Given the description of an element on the screen output the (x, y) to click on. 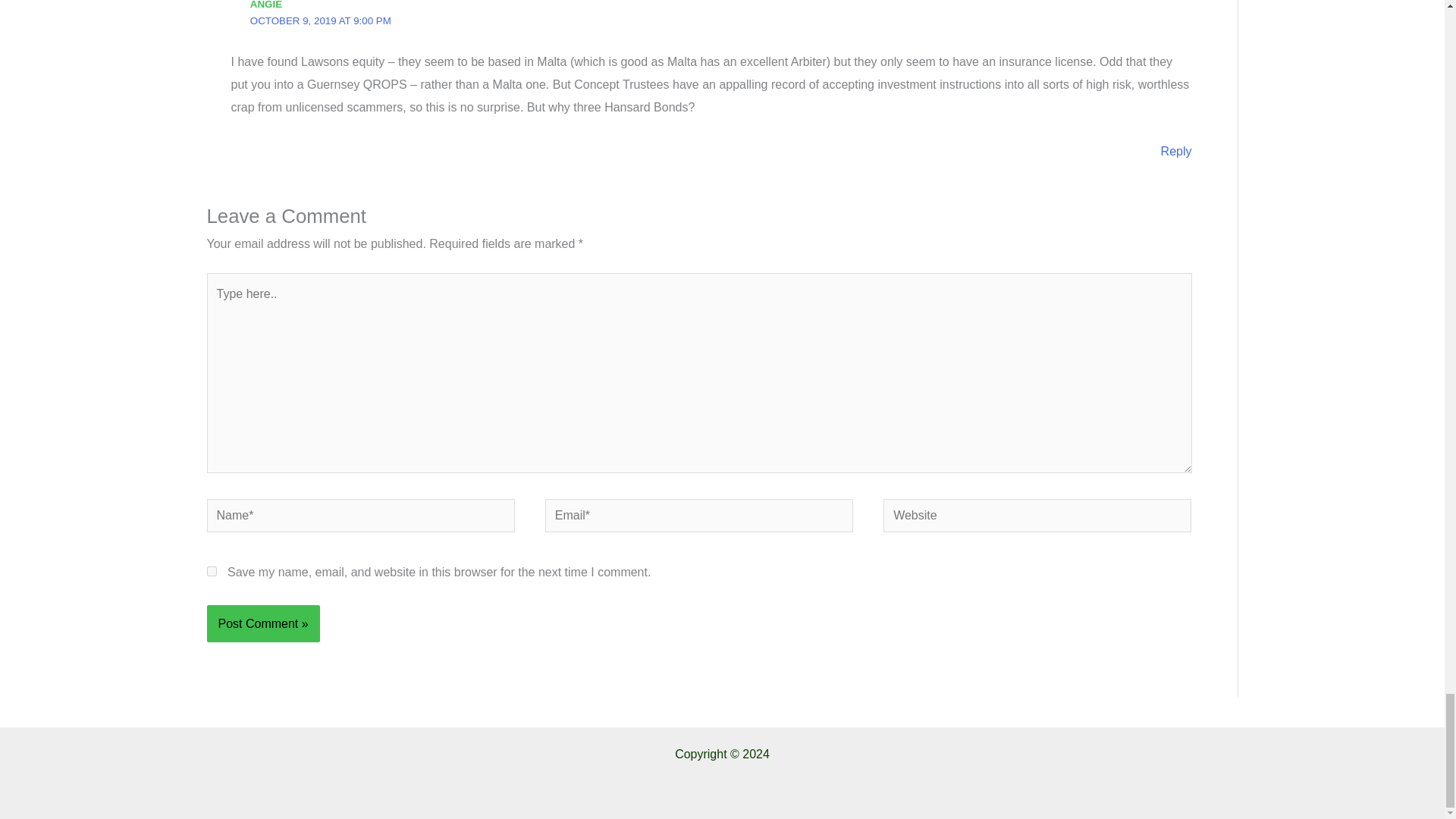
yes (210, 571)
